Given the description of an element on the screen output the (x, y) to click on. 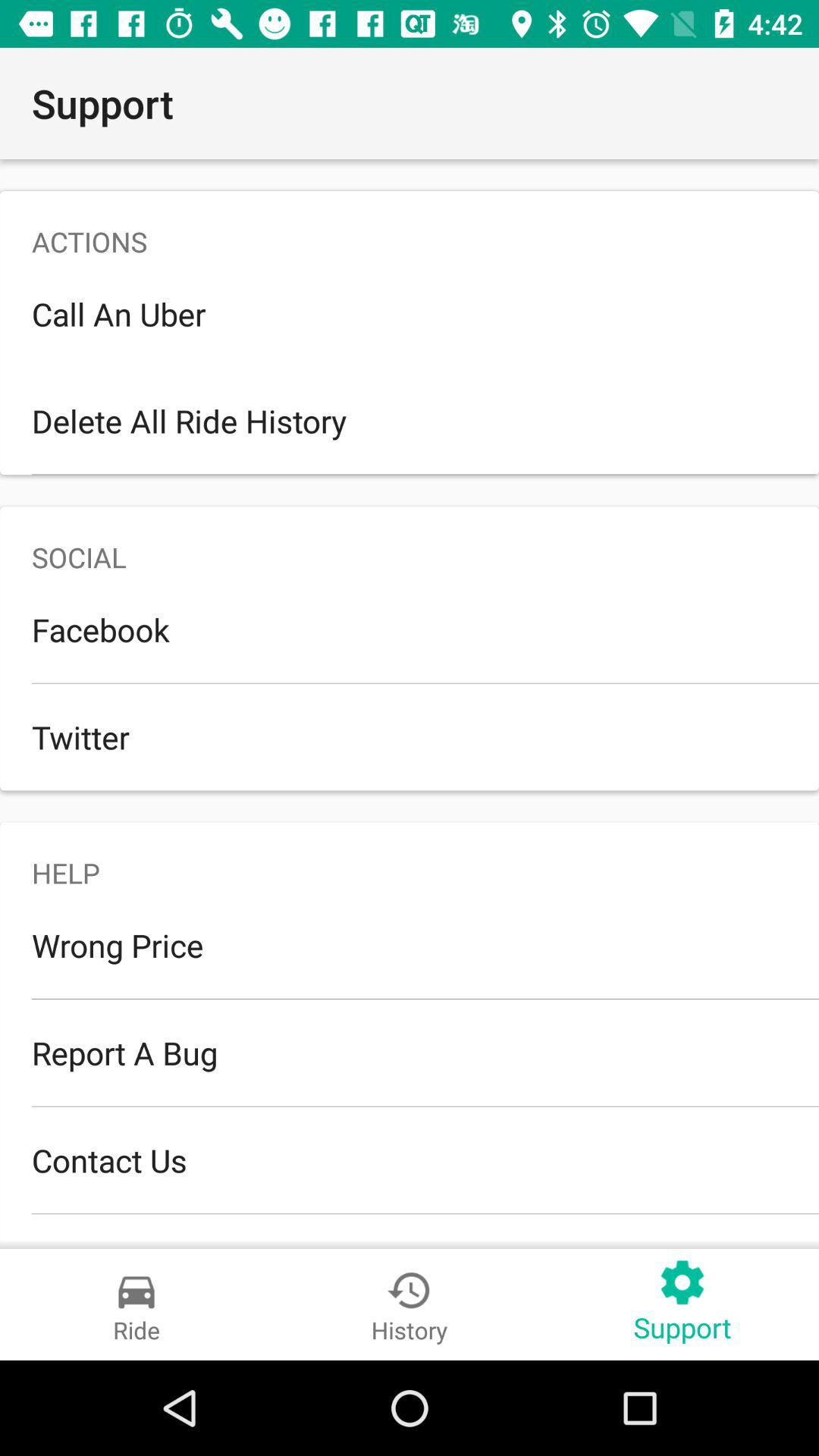
swipe to the delete all ride icon (409, 420)
